Given the description of an element on the screen output the (x, y) to click on. 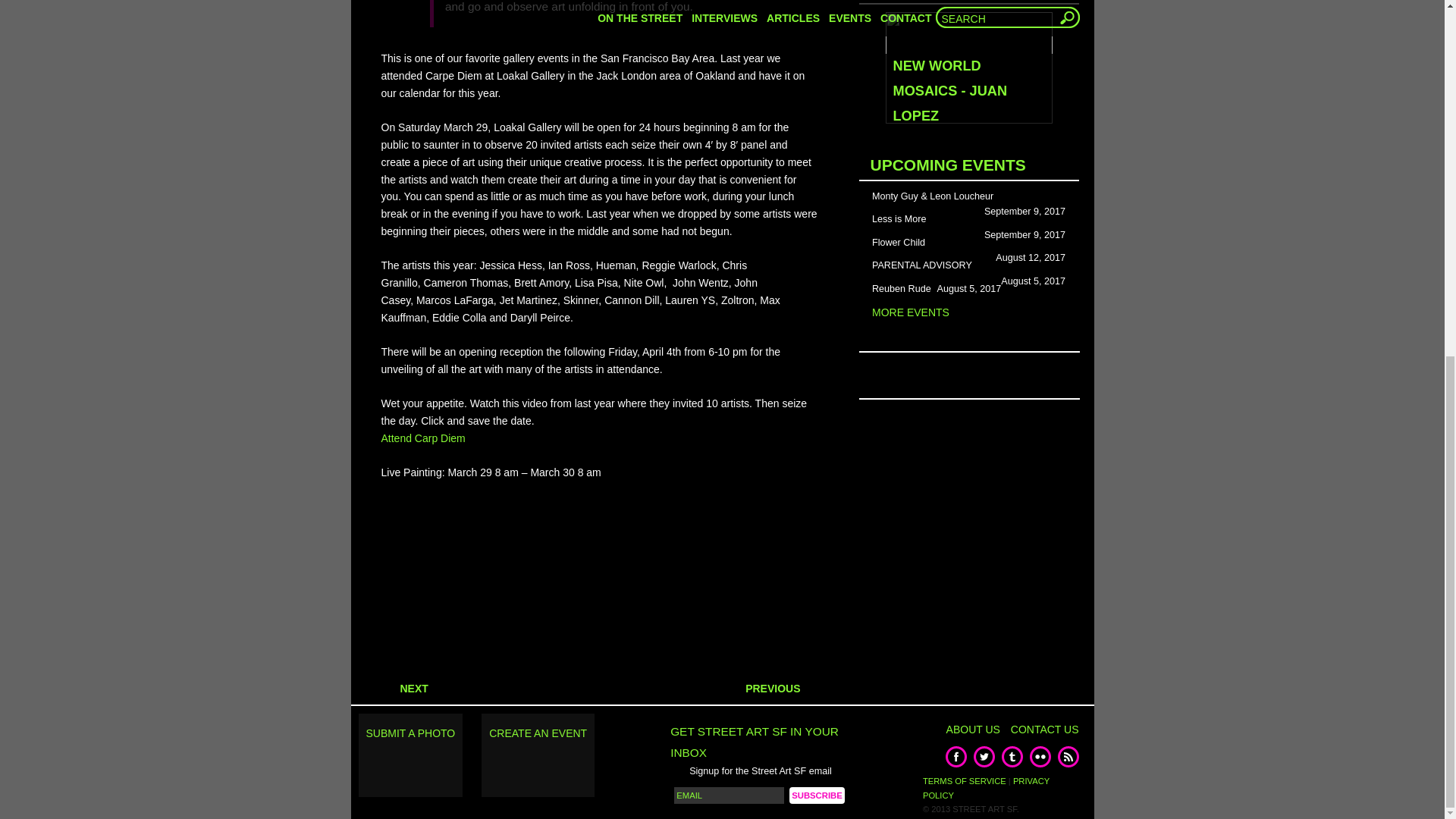
Attend Carp Diem (422, 438)
ABCNT (883, 28)
Aaron Noble (895, 10)
Subscribe (816, 795)
Abouss (883, 44)
PREVIOUS (781, 688)
NEXT (404, 688)
Acme (879, 61)
